Given the description of an element on the screen output the (x, y) to click on. 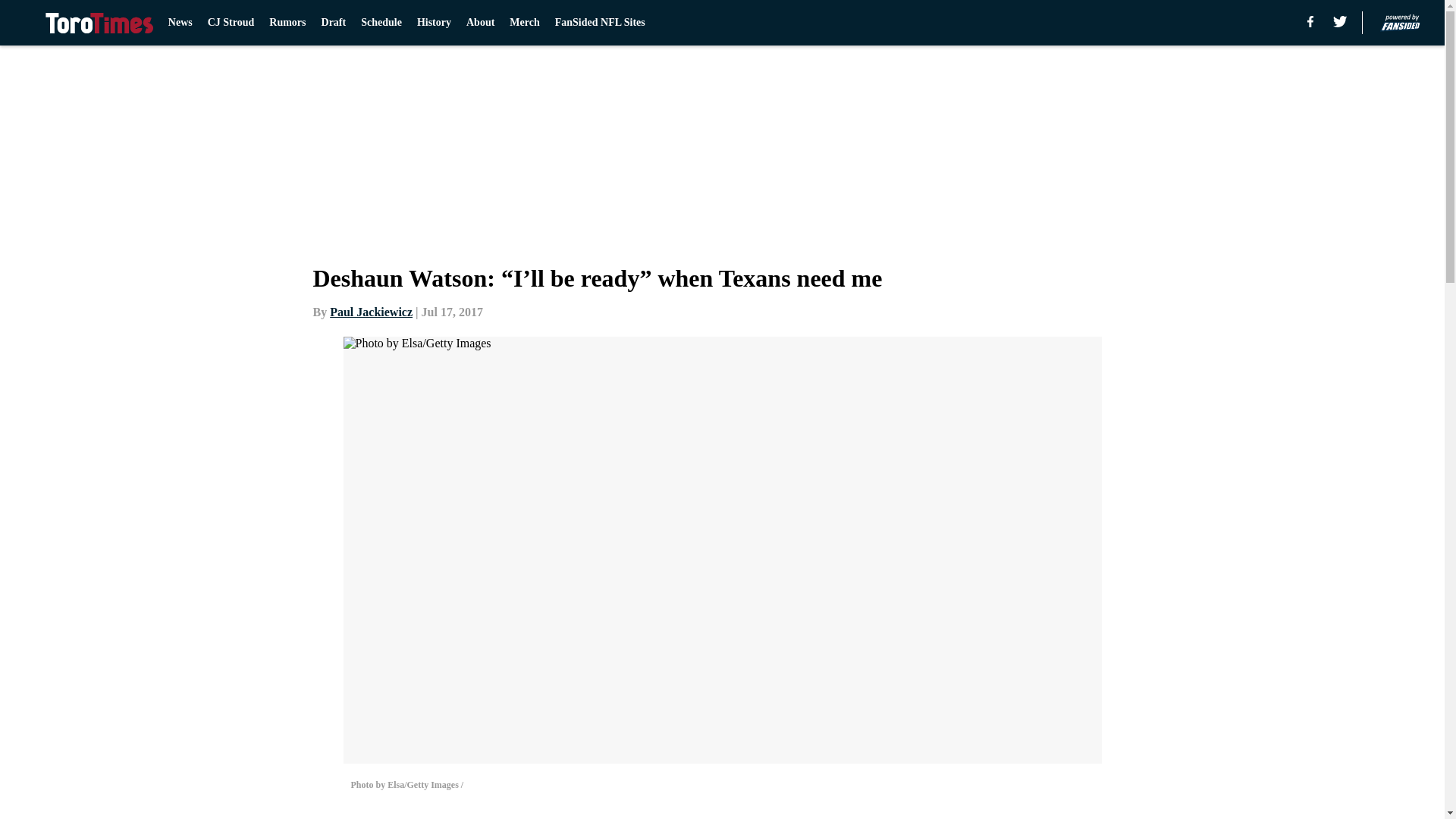
FanSided NFL Sites (599, 22)
History (433, 22)
Paul Jackiewicz (371, 311)
Schedule (381, 22)
Rumors (287, 22)
Merch (523, 22)
News (180, 22)
Draft (333, 22)
CJ Stroud (231, 22)
About (480, 22)
